Given the description of an element on the screen output the (x, y) to click on. 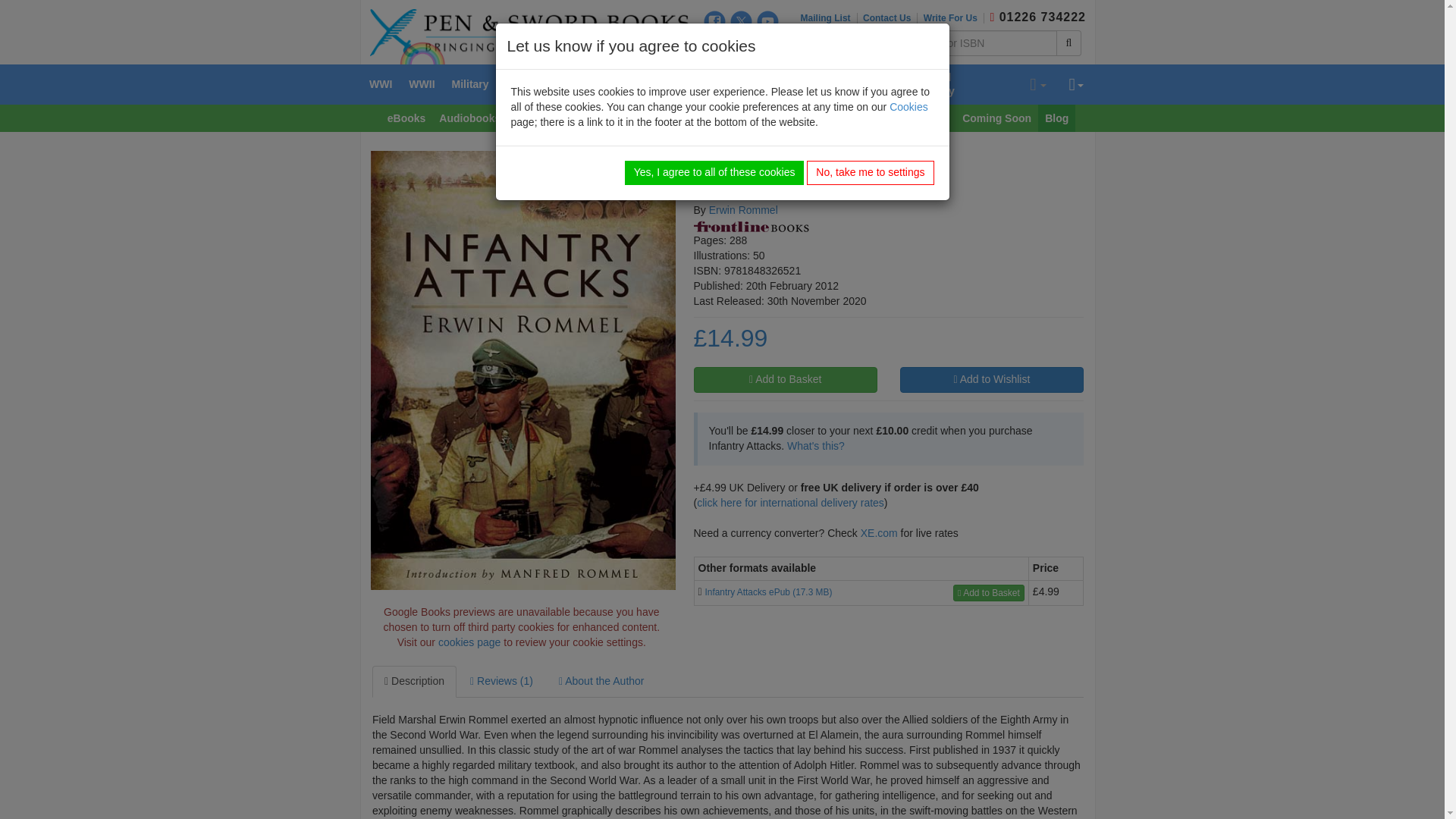
NetGalley (767, 45)
Instagram (714, 45)
YouTube (767, 21)
Write For Us (953, 18)
X (741, 21)
Mailing List (828, 18)
Order Hotline (992, 17)
Facebook (714, 21)
TikTok (741, 45)
Your basket is empty (1037, 84)
ePub (699, 592)
Contact Us (890, 18)
